Given the description of an element on the screen output the (x, y) to click on. 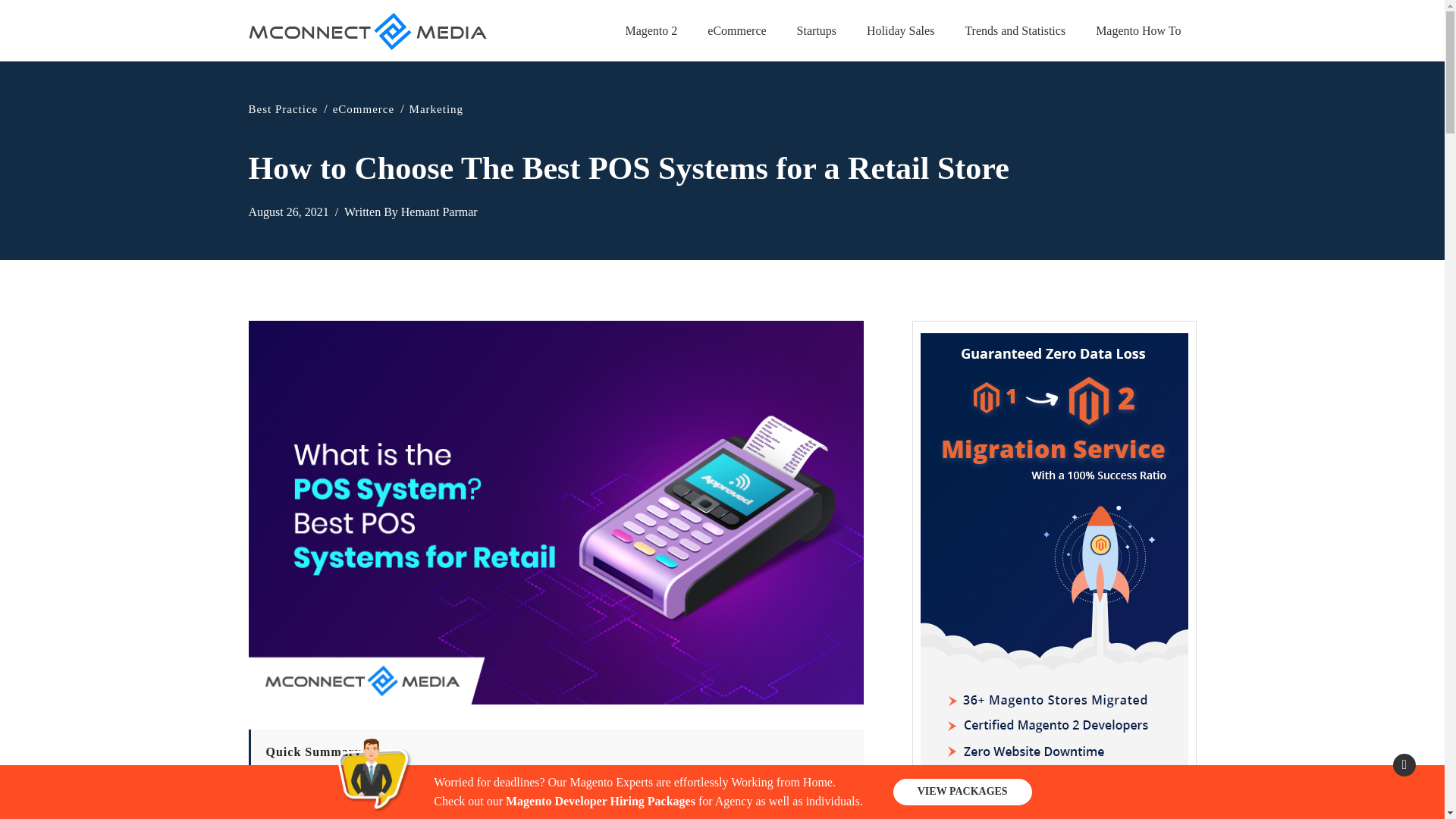
Marketing (436, 109)
Holiday Sales (900, 30)
Magento How To (1137, 30)
Best Practice (283, 109)
Magento 2 (651, 30)
eCommerce (363, 109)
eCommerce (736, 30)
Startups (816, 30)
Trends and Statistics (1014, 30)
